Given the description of an element on the screen output the (x, y) to click on. 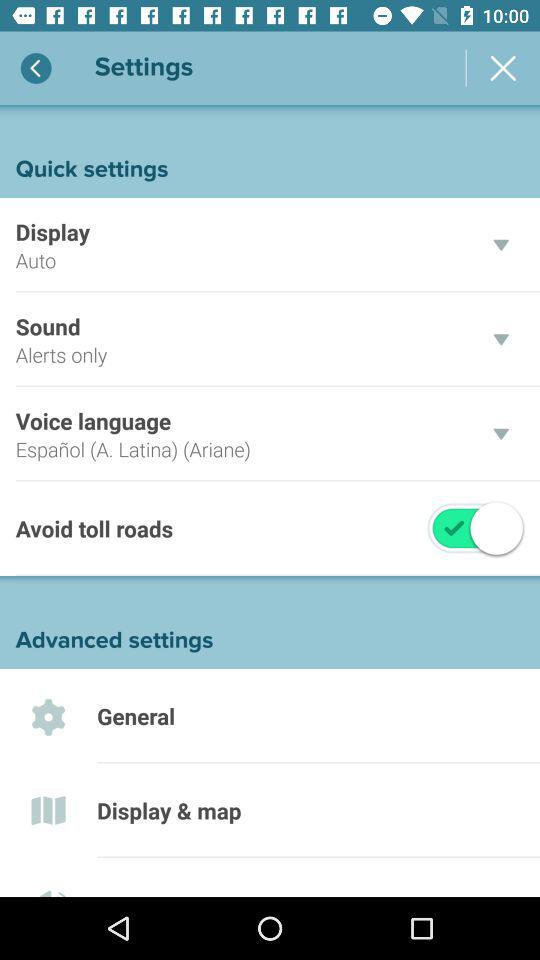
go back (36, 67)
